Given the description of an element on the screen output the (x, y) to click on. 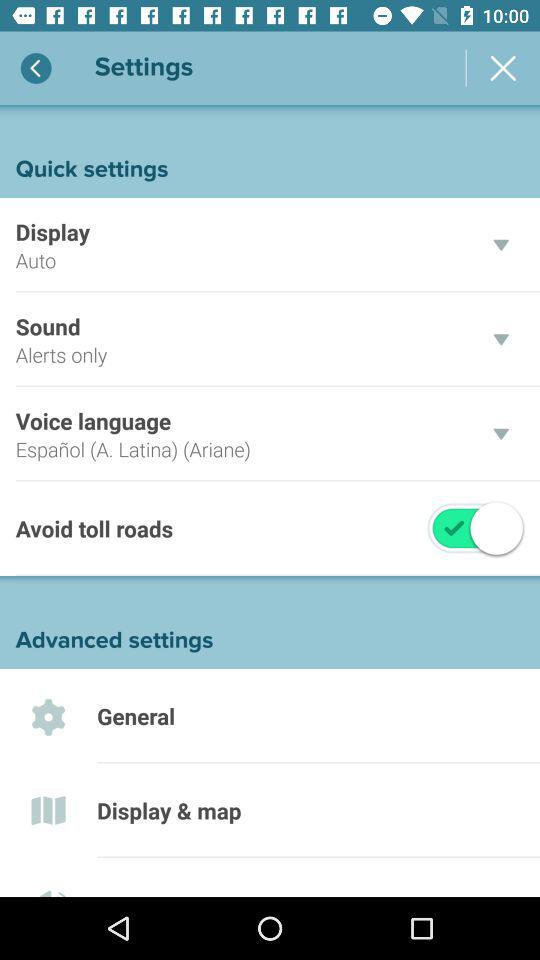
go back (36, 67)
